Given the description of an element on the screen output the (x, y) to click on. 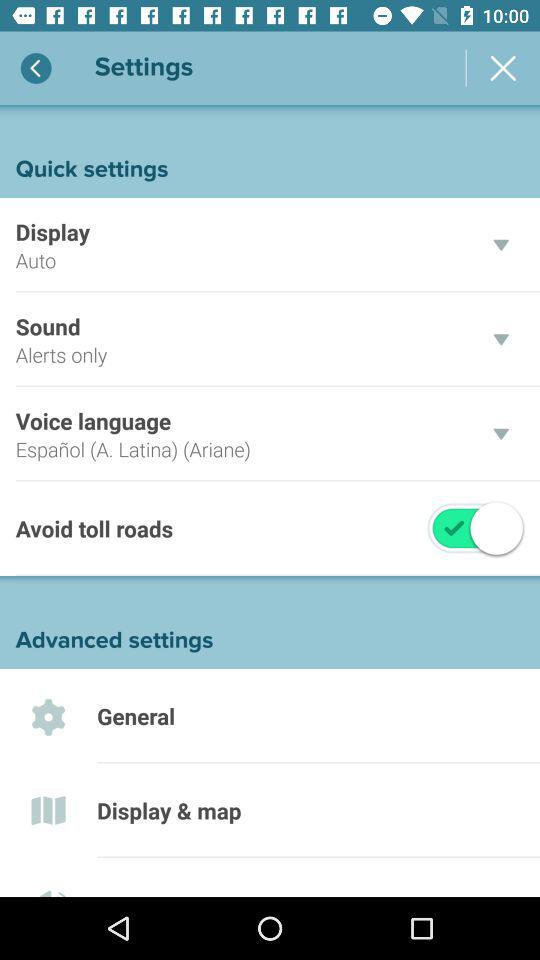
go back (36, 67)
